Given the description of an element on the screen output the (x, y) to click on. 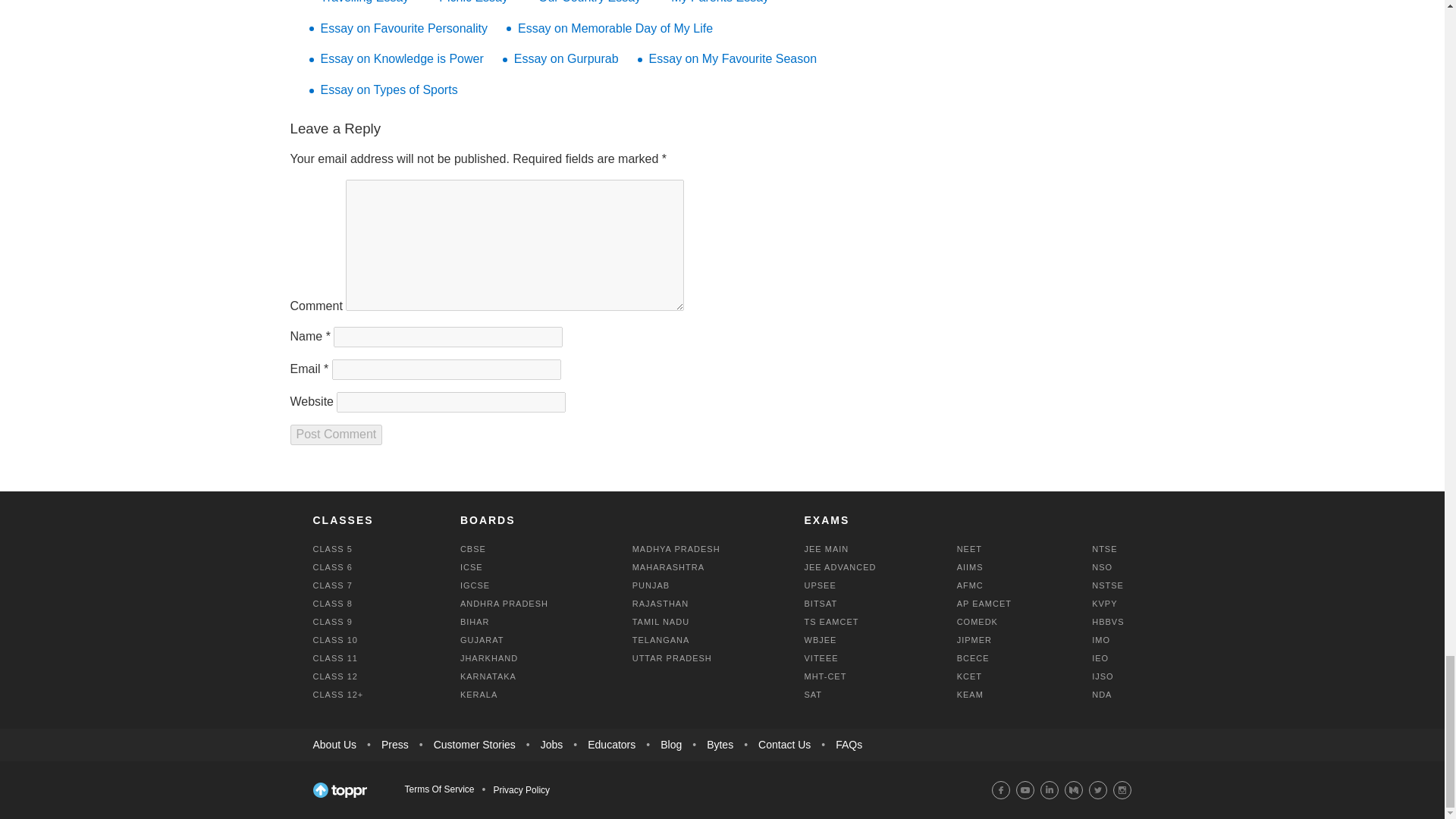
Class 7 (332, 584)
Class 6 (332, 566)
Post Comment (335, 435)
Class 5 (332, 548)
